Given the description of an element on the screen output the (x, y) to click on. 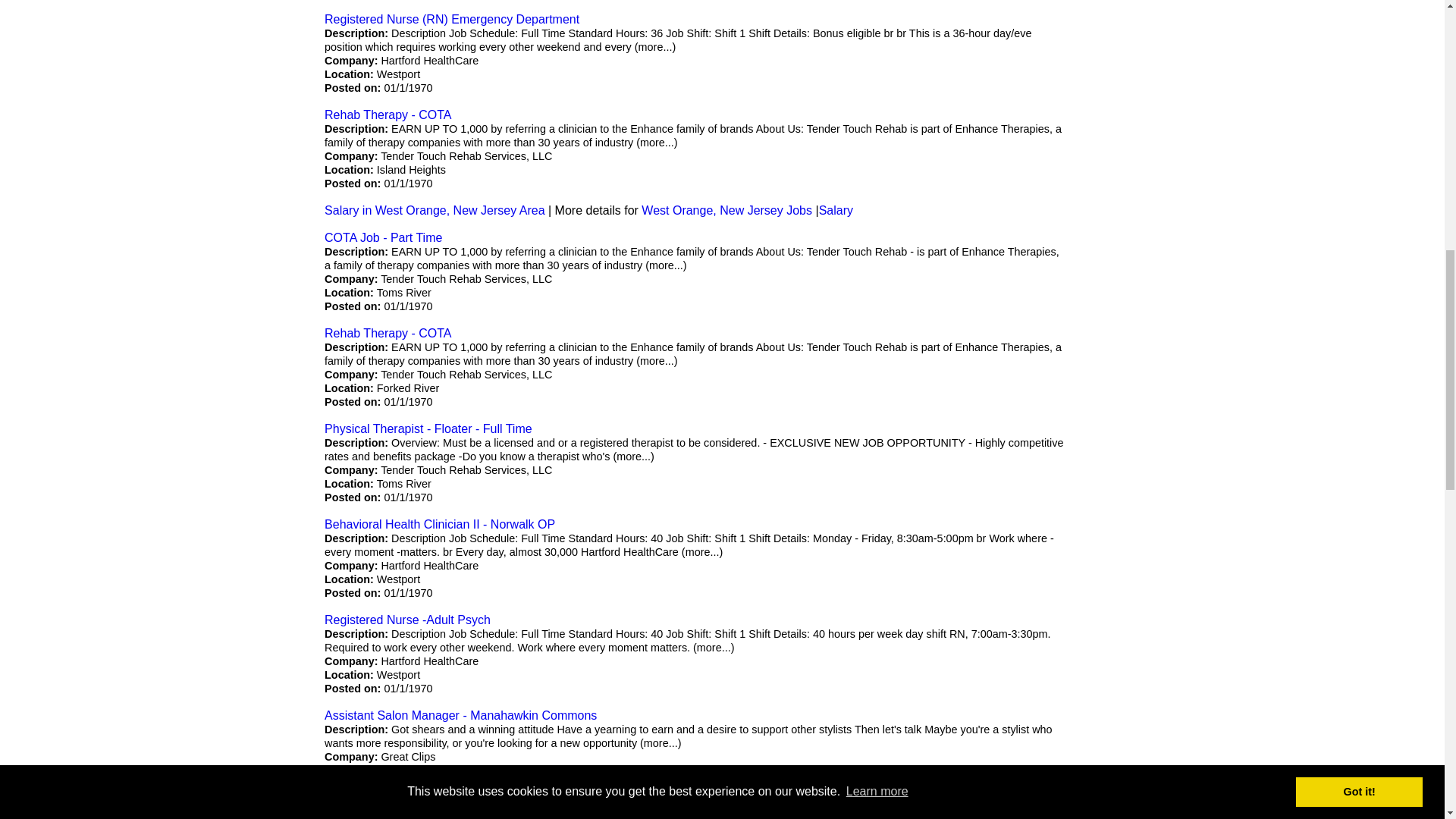
Rehab Therapy - COTA (387, 114)
Rehab Therapy - COTA (387, 114)
Assistant Salon Manager - Manahawkin Commons (460, 715)
Behavioral Health Clinician II - Norwalk OP (439, 523)
Rehab Therapy - COTA (387, 332)
COTA Job - Part Time (383, 237)
West Orange, New Jersey Jobs (727, 210)
Physical Therapist - Floater - Full Time (428, 428)
Salary (835, 210)
Salary in West Orange, New Jersey Area (434, 210)
Registered Nurse -Adult Psych (407, 619)
